Given the description of an element on the screen output the (x, y) to click on. 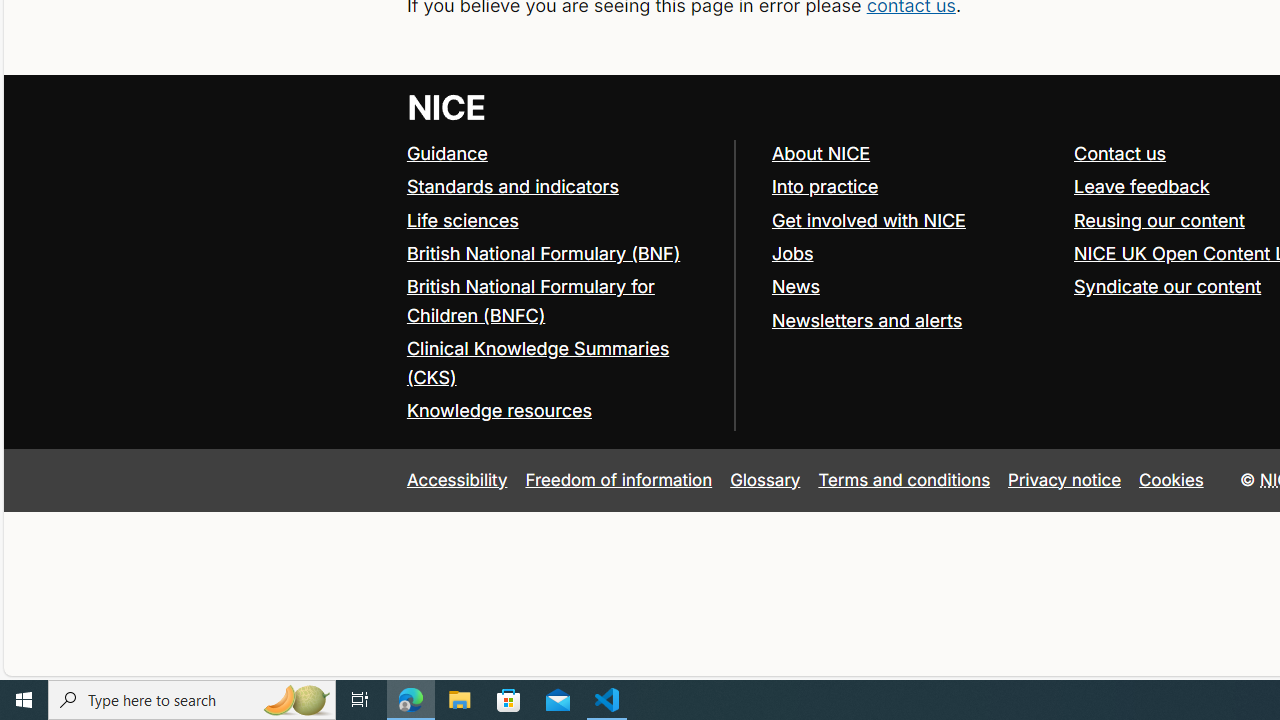
About NICE (913, 153)
News (913, 286)
Cookies (1171, 479)
Guidance (560, 153)
Privacy notice (1065, 479)
Into practice (824, 186)
Into practice (913, 187)
Syndicate our content (1167, 285)
Jobs (913, 254)
Leave feedback (1141, 186)
Knowledge resources (498, 410)
